Given the description of an element on the screen output the (x, y) to click on. 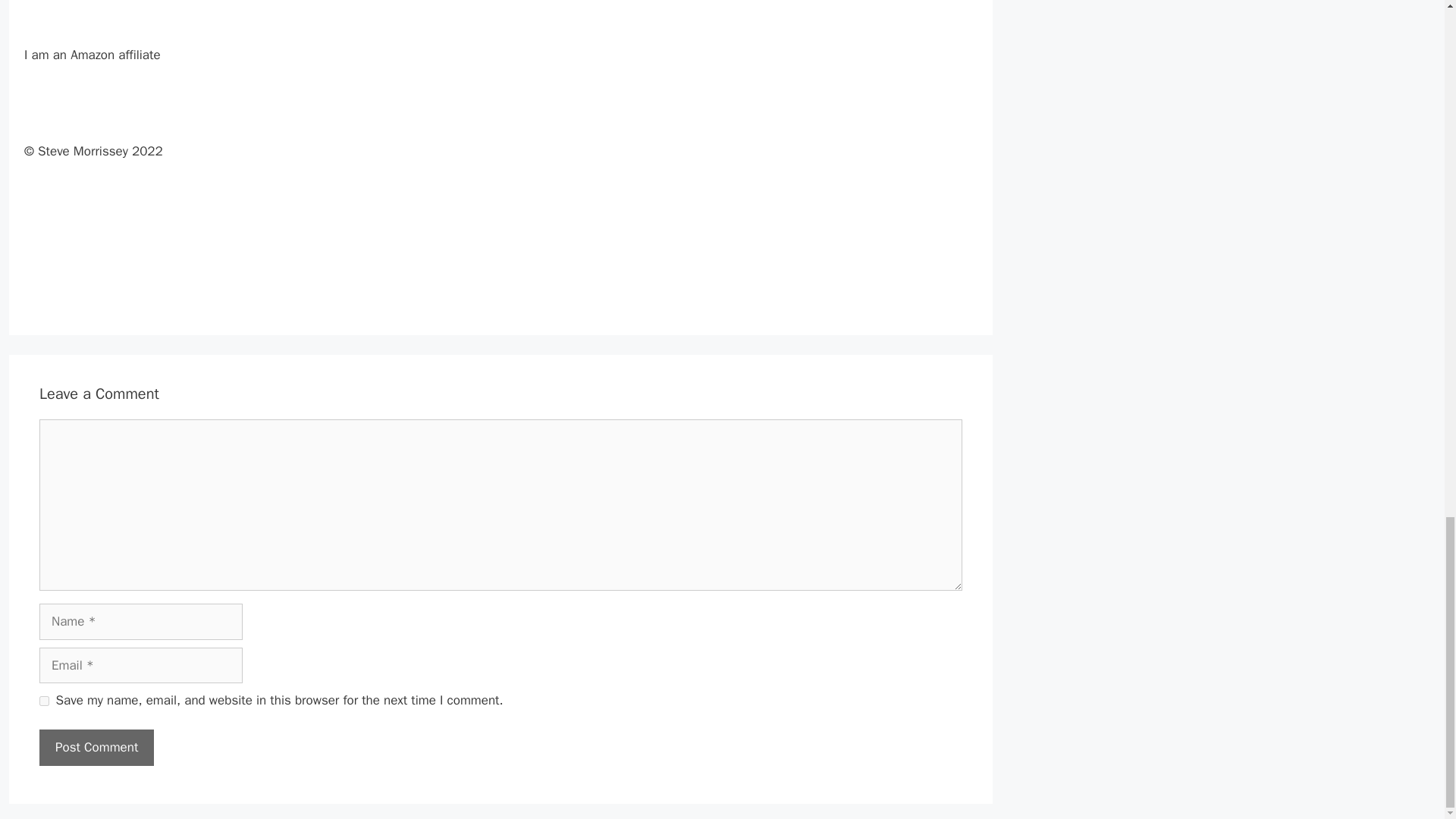
Post Comment (96, 747)
Post Comment (96, 747)
yes (44, 700)
